Given the description of an element on the screen output the (x, y) to click on. 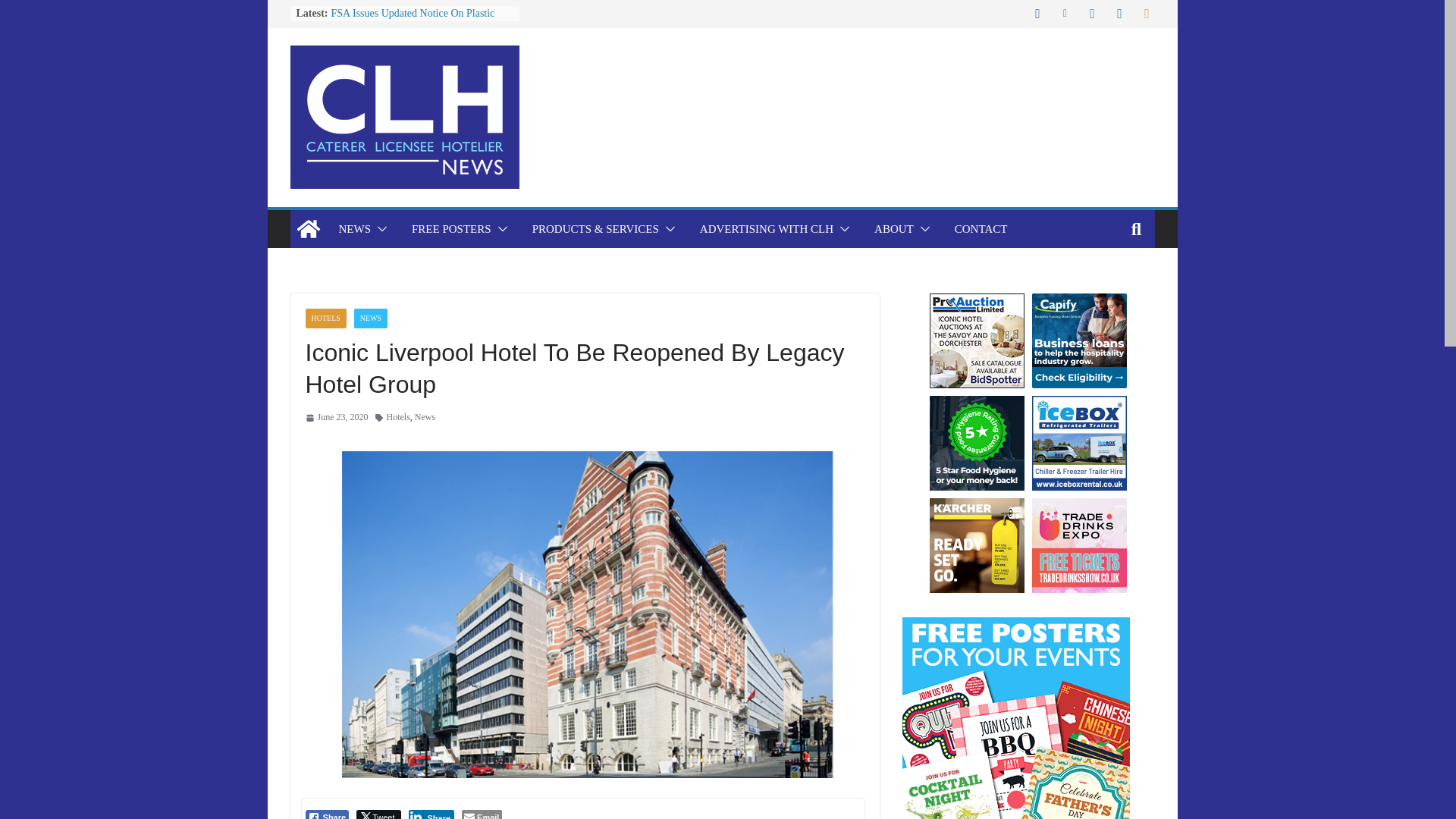
CLH News: Caterer, Licensee and Hotelier News (307, 228)
12:45 pm (336, 417)
FREE POSTERS (452, 228)
NEWS (354, 228)
